Given the description of an element on the screen output the (x, y) to click on. 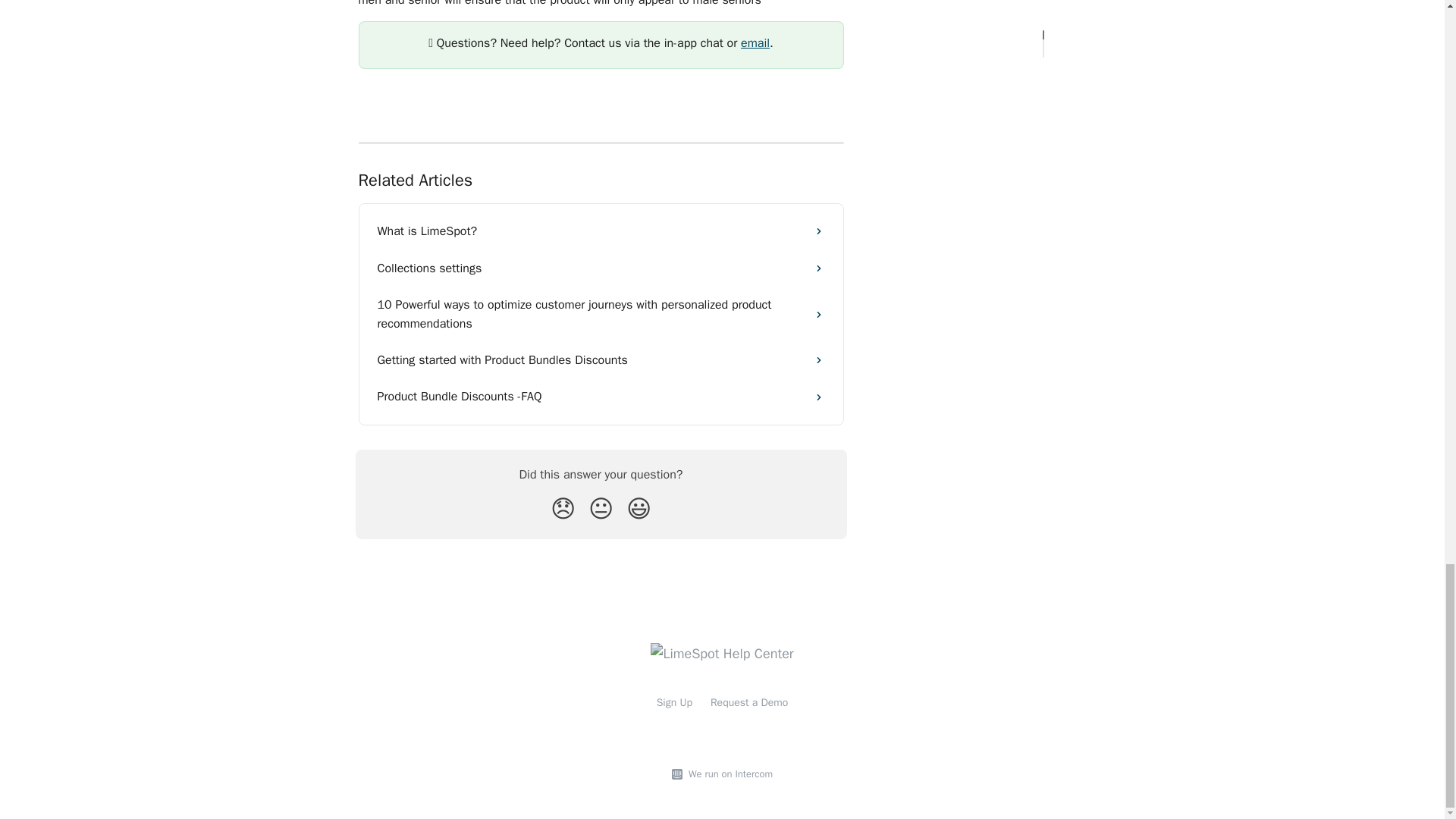
Disappointed (562, 508)
Product Bundle Discounts -FAQ (601, 396)
Smiley (638, 508)
Collections settings (601, 268)
email (755, 43)
Neutral (600, 508)
What is LimeSpot? (601, 230)
We run on Intercom (727, 774)
Sign Up (674, 702)
Request a Demo (748, 702)
Getting started with Product Bundles Discounts (601, 360)
